Given the description of an element on the screen output the (x, y) to click on. 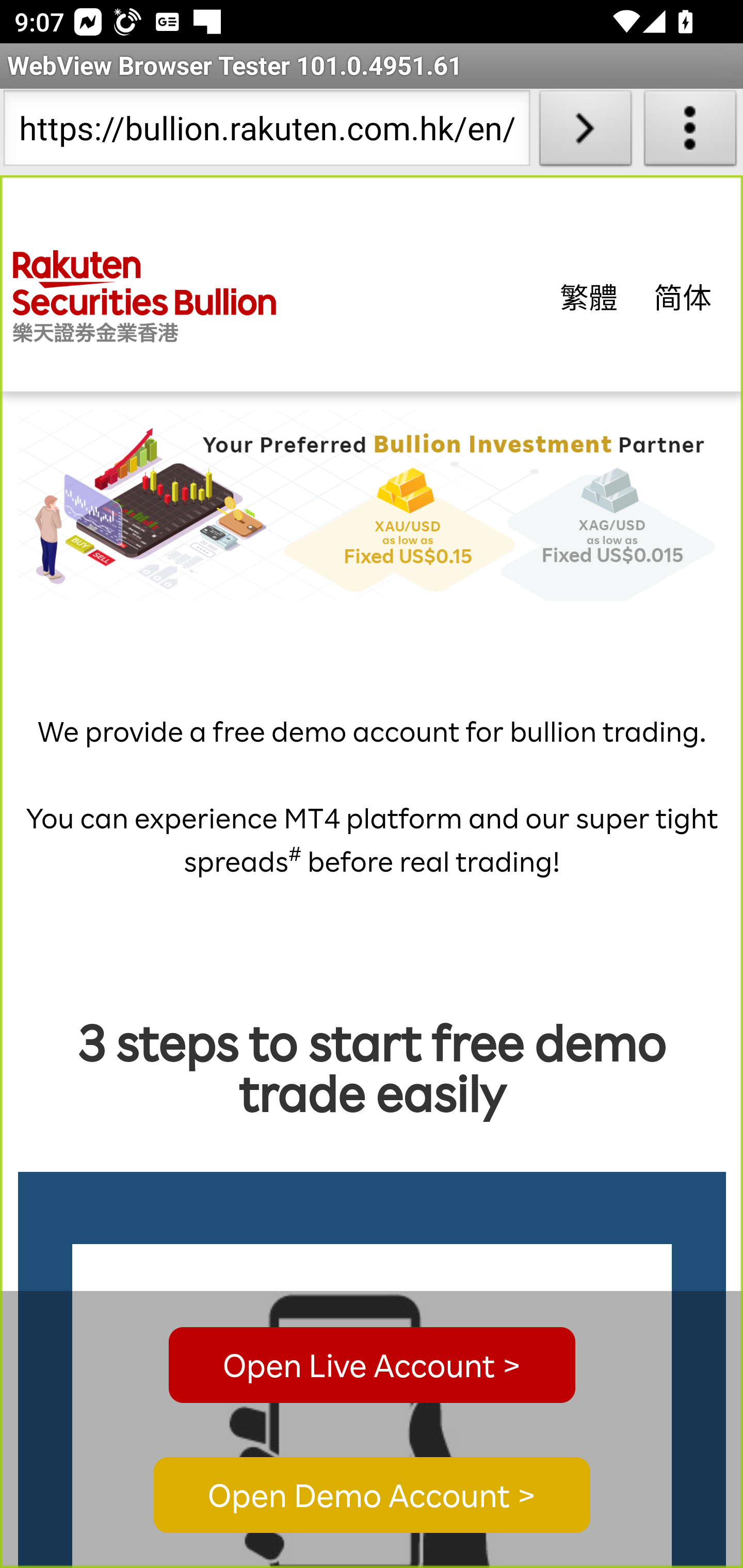
Load URL (585, 132)
About WebView (690, 132)
繁體 (589, 296)
简体 (683, 296)
1. Register (372, 1405)
Open Live Account > (371, 1364)
Open Demo Account > (371, 1495)
